Given the description of an element on the screen output the (x, y) to click on. 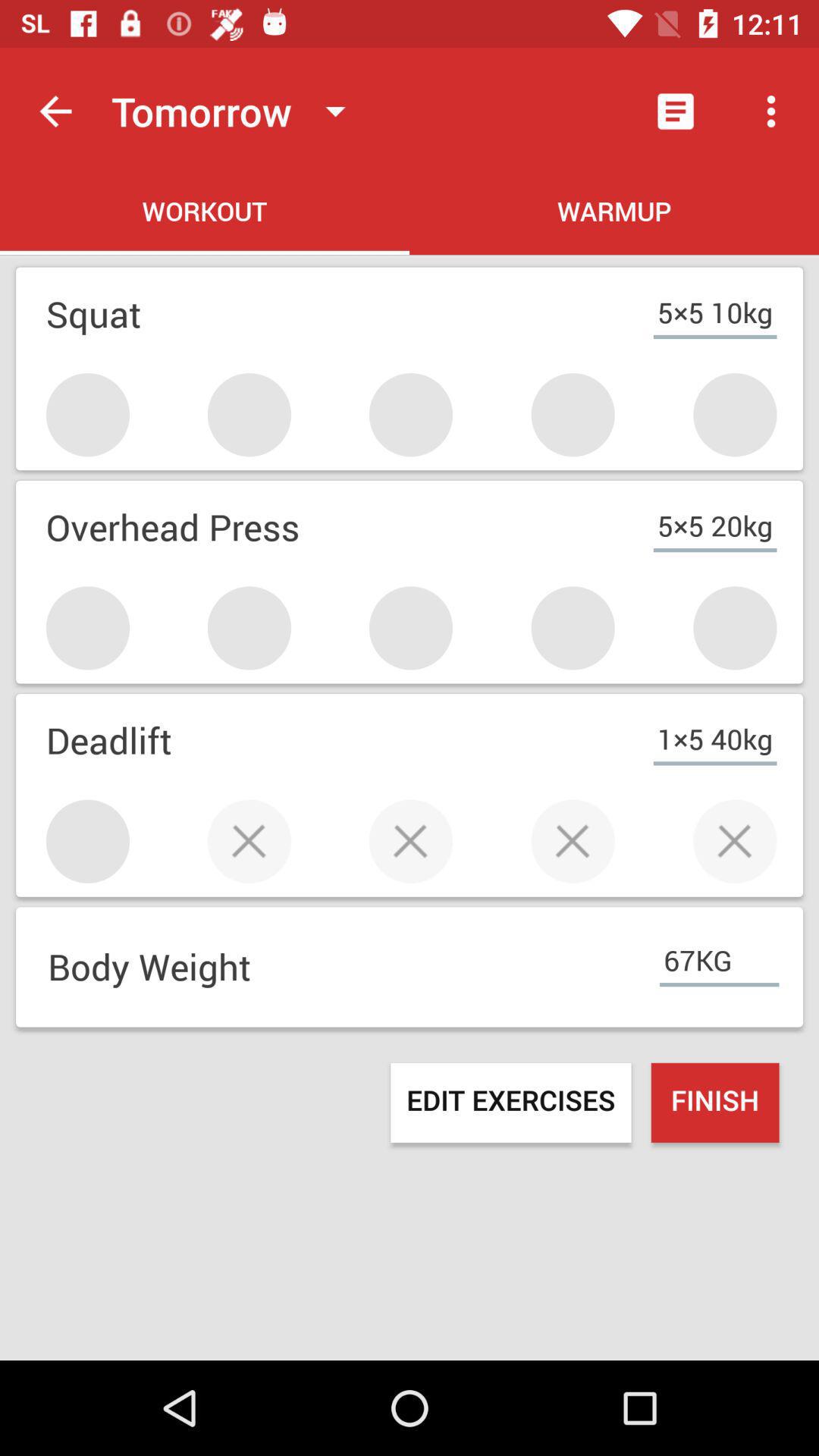
choose icon above the workout icon (235, 110)
